Given the description of an element on the screen output the (x, y) to click on. 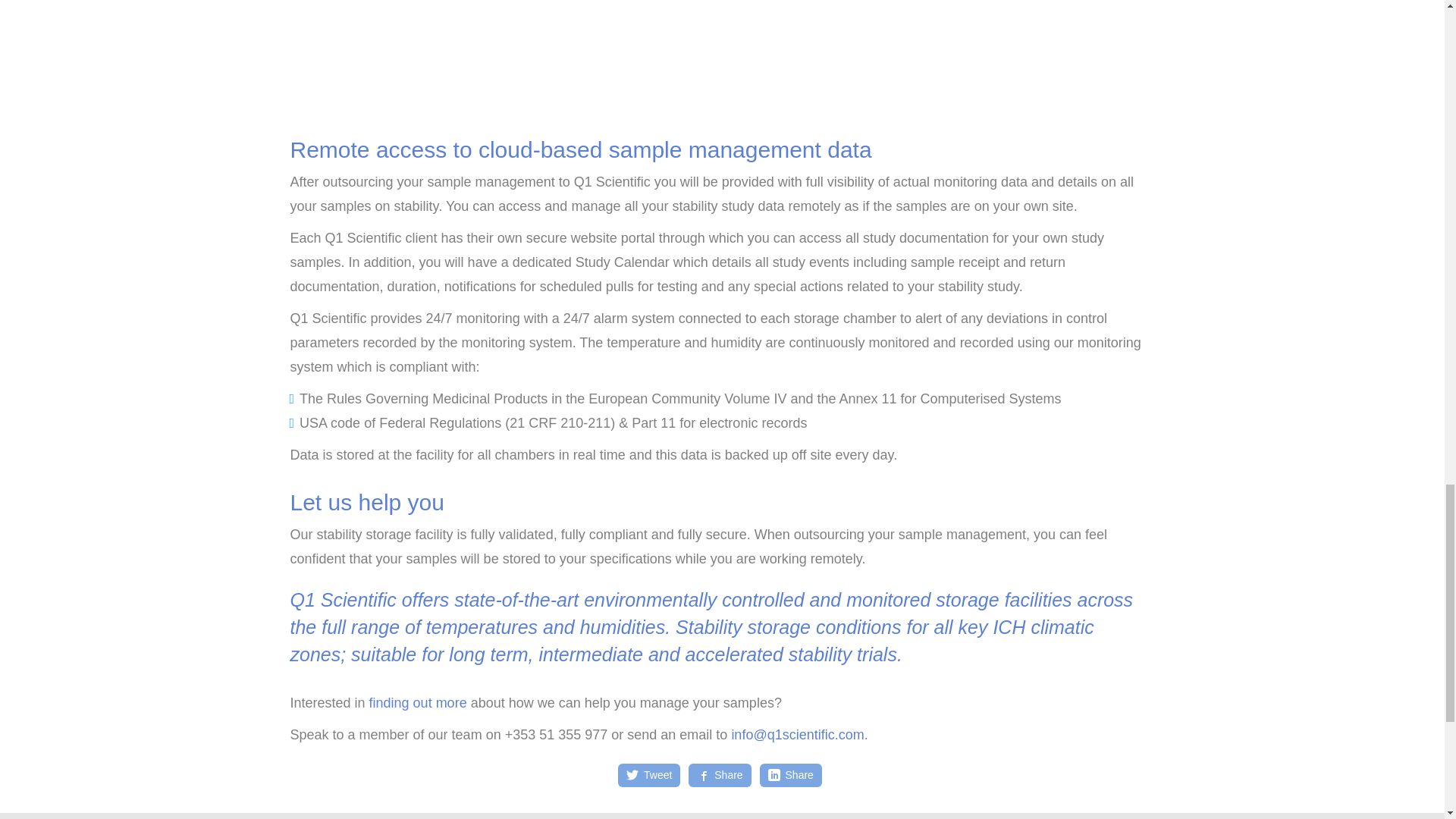
Share (790, 774)
Share on Facebook (719, 774)
finding out more (418, 702)
Share (719, 774)
Share on Twitter (649, 774)
Tweet (649, 774)
Share on LinkedIn (790, 774)
